Given the description of an element on the screen output the (x, y) to click on. 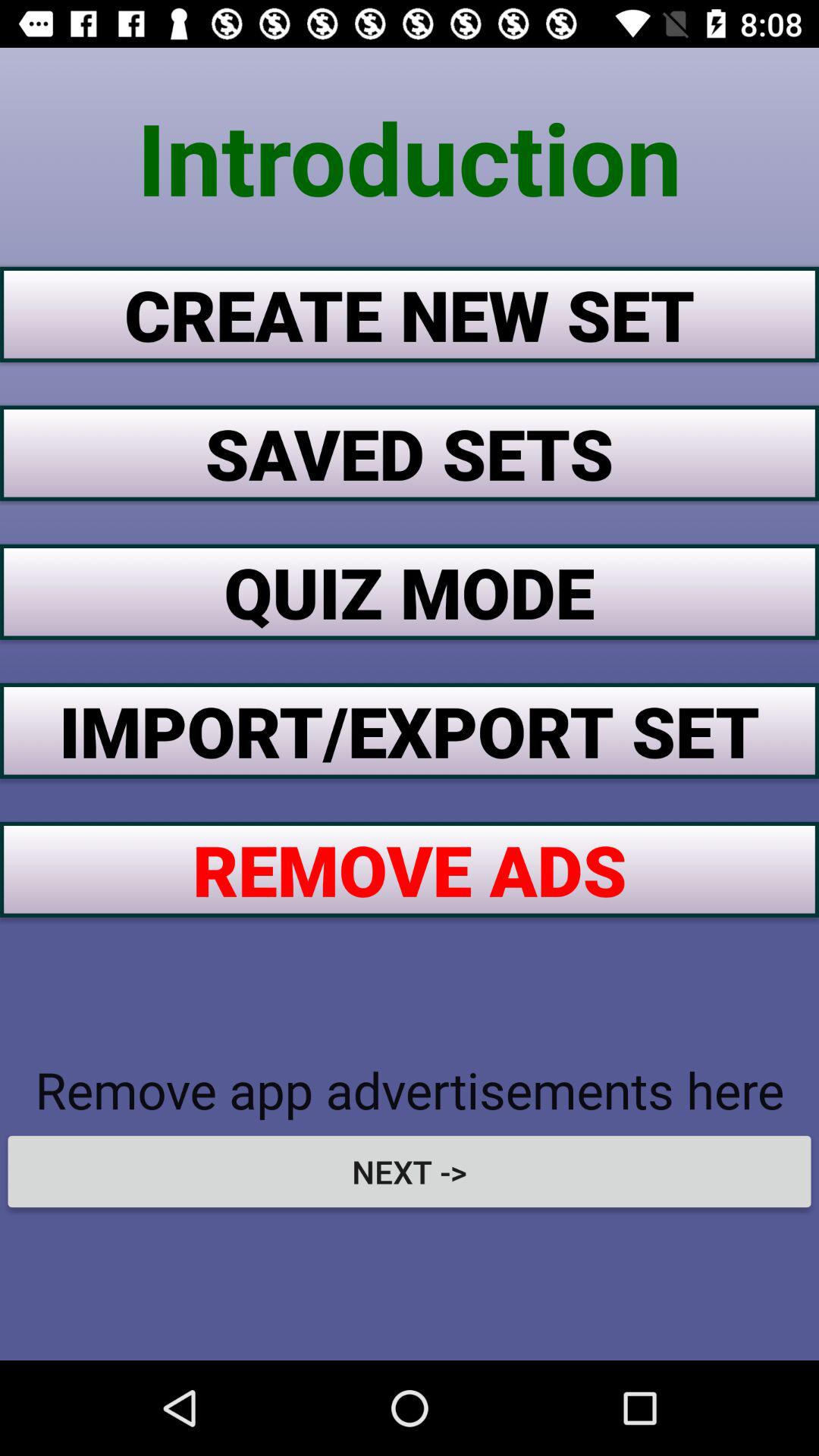
turn on the item above the import/export set item (409, 591)
